Given the description of an element on the screen output the (x, y) to click on. 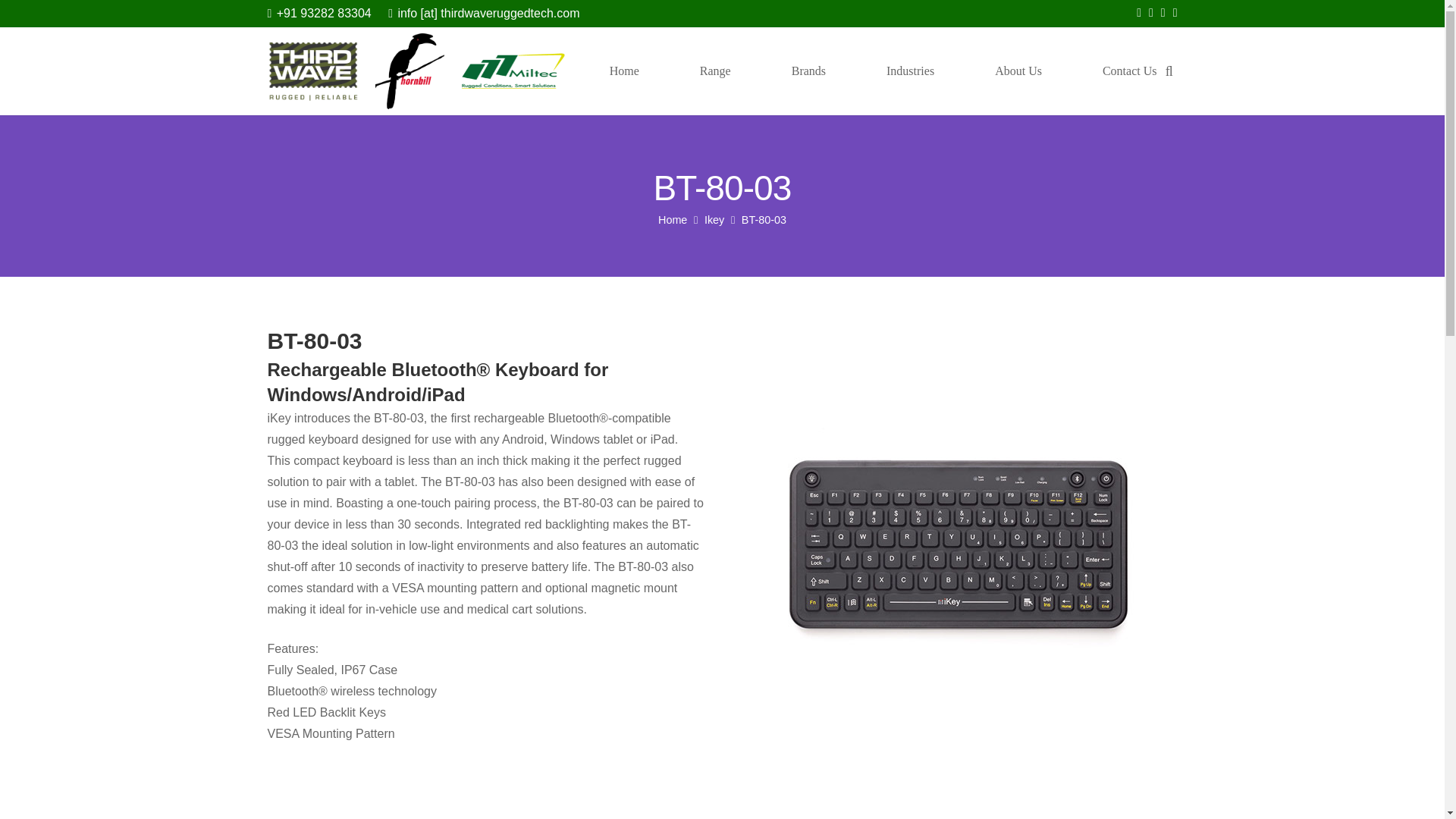
Home (624, 71)
Range (715, 71)
Brands (808, 71)
